Given the description of an element on the screen output the (x, y) to click on. 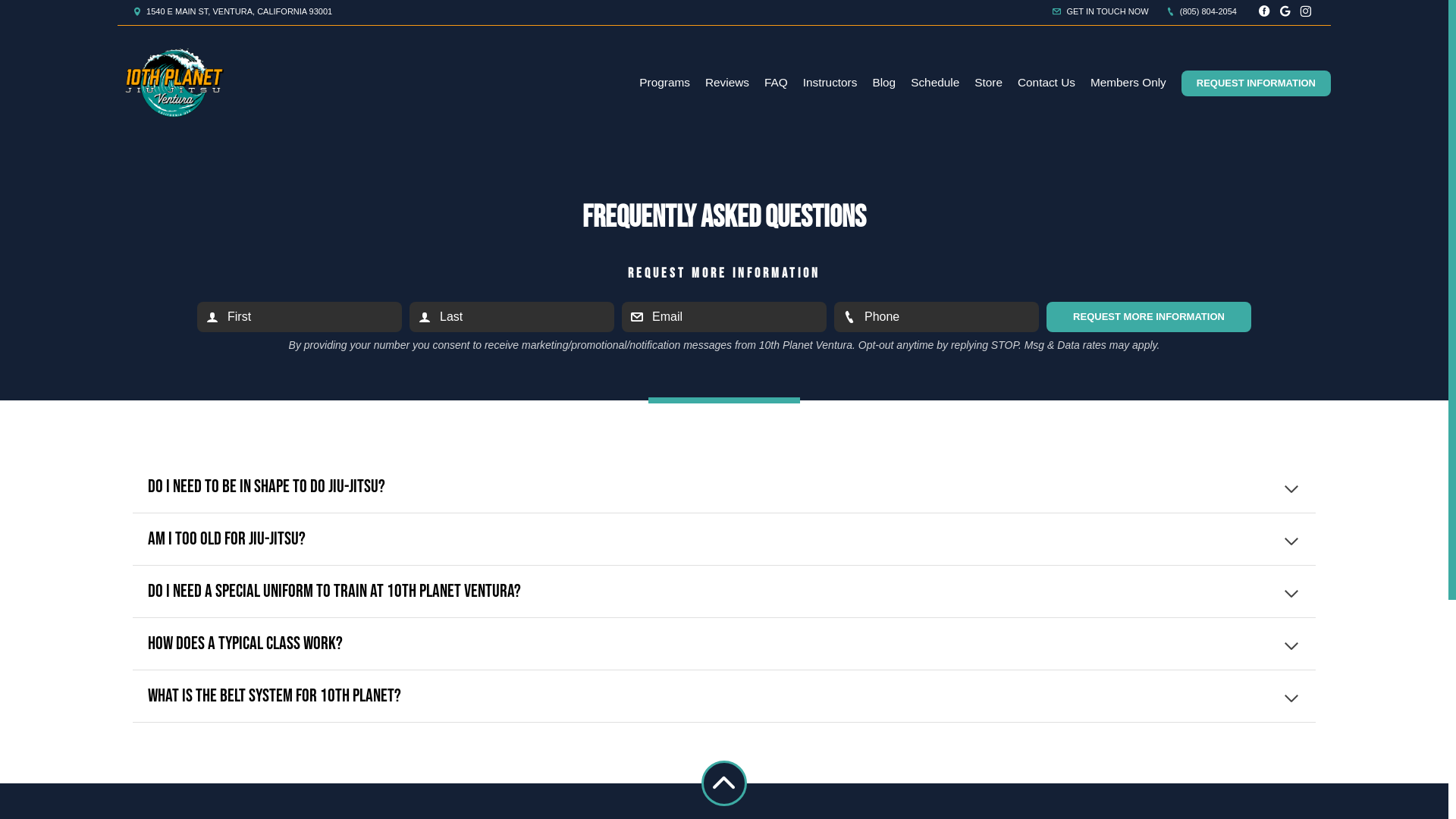
Reviews Element type: text (726, 82)
FAQ Element type: text (775, 82)
Members Only Element type: text (1127, 82)
Instructors Element type: text (830, 82)
Schedule Element type: text (934, 82)
Required Element type: hover (936, 316)
REQUEST INFORMATION Element type: text (1255, 83)
Required Element type: hover (723, 316)
Blog Element type: text (883, 82)
Store Element type: text (988, 82)
Contact Us Element type: text (1046, 82)
GET IN TOUCH NOW Element type: text (1100, 10)
(805) 804-2054 Element type: text (1201, 10)
Last Element type: hover (511, 316)
First Element type: hover (299, 316)
Programs Element type: text (664, 82)
Request More Information Element type: text (1148, 316)
